Given the description of an element on the screen output the (x, y) to click on. 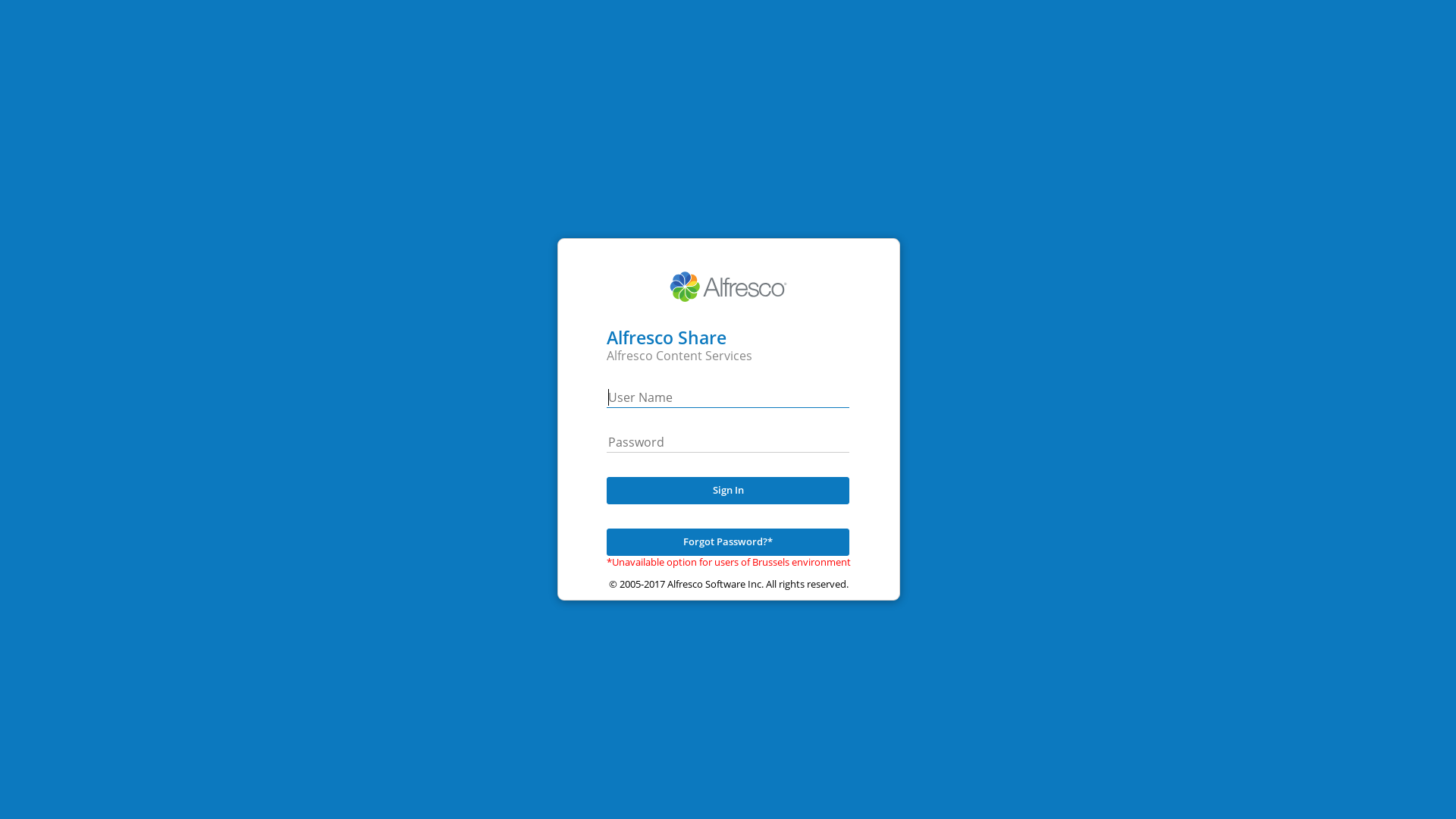
Forgot Password?* Element type: text (727, 542)
Sign In Element type: text (727, 490)
